Given the description of an element on the screen output the (x, y) to click on. 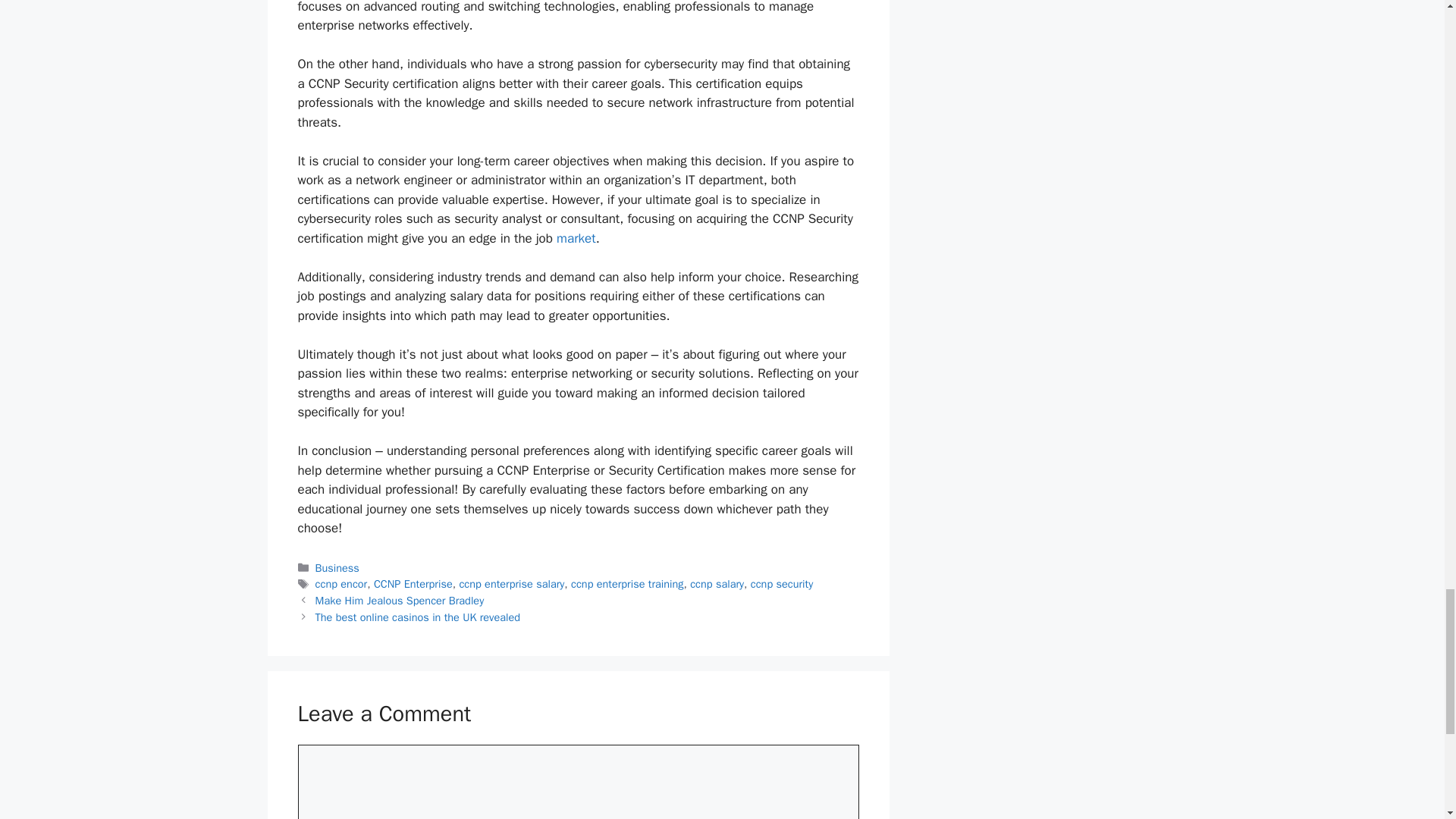
CCNP Enterprise (413, 583)
Business (337, 567)
ccnp salary (717, 583)
ccnp security (781, 583)
Make Him Jealous Spencer Bradley (399, 600)
The best online casinos in the UK revealed (417, 617)
ccnp enterprise salary (511, 583)
ccnp enterprise training (626, 583)
market (575, 238)
ccnp encor (341, 583)
